Given the description of an element on the screen output the (x, y) to click on. 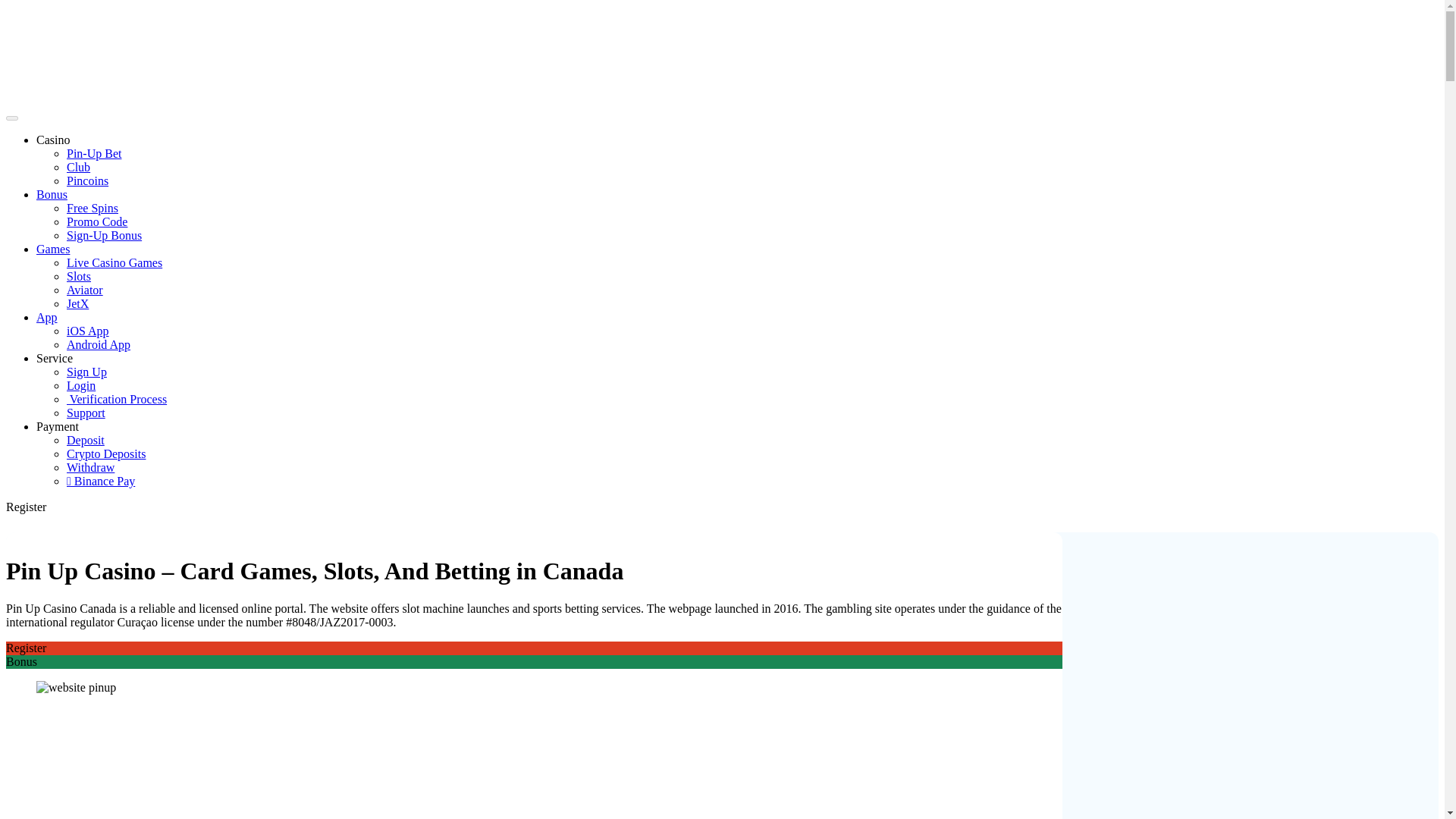
Sign-Up Bonus (103, 235)
App (47, 317)
Android App (98, 344)
Deposit (85, 440)
 Verification Process (116, 399)
Bonus (51, 194)
Withdraw (90, 467)
Promo Code (97, 221)
Pin-Up Bet (93, 153)
Games (52, 248)
Pincoins (86, 180)
Aviator (84, 289)
iOS App (87, 330)
Club (78, 166)
Free Spins (91, 207)
